Given the description of an element on the screen output the (x, y) to click on. 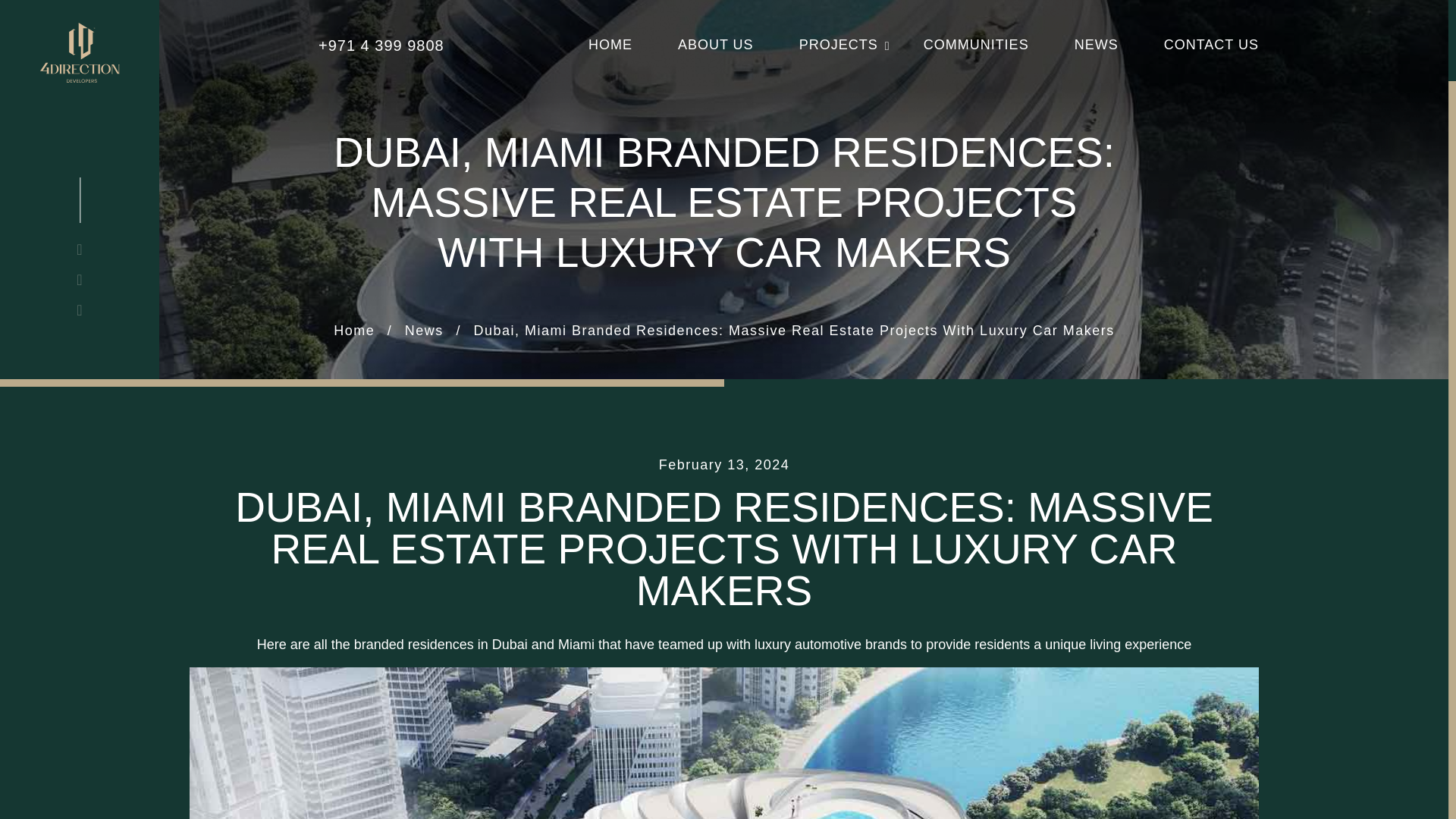
PROJECTS (838, 45)
COMMUNITIES (976, 45)
CONTACT US (1211, 45)
ABOUT US (716, 45)
News (424, 331)
NEWS (1096, 45)
Home (353, 331)
HOME (609, 45)
